Given the description of an element on the screen output the (x, y) to click on. 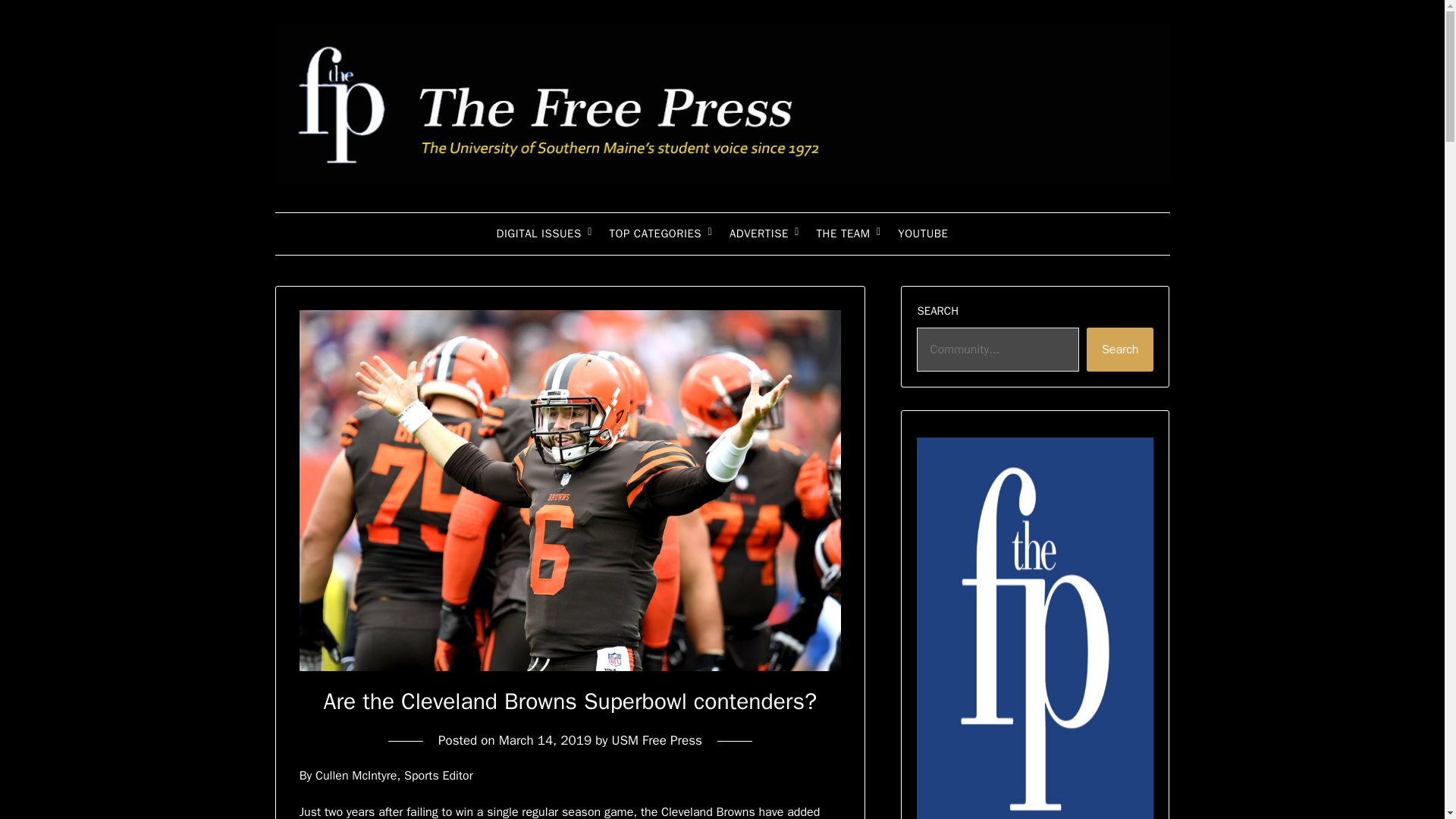
THE TEAM (843, 232)
ADVERTISE (758, 232)
Search (1120, 349)
TOP CATEGORIES (655, 232)
USM Free Press (656, 740)
DIGITAL ISSUES (539, 232)
March 14, 2019 (545, 740)
YOUTUBE (922, 232)
